Given the description of an element on the screen output the (x, y) to click on. 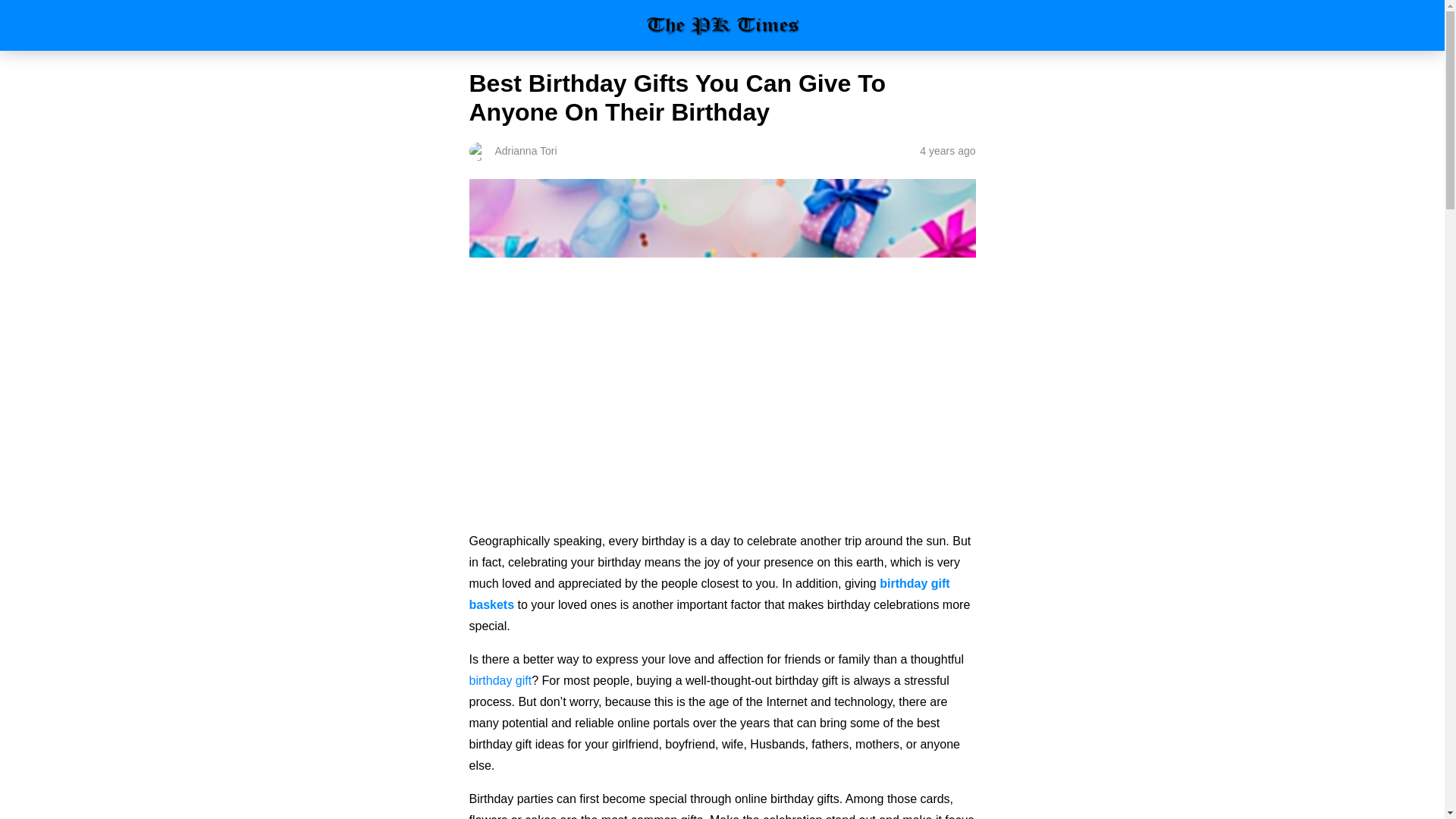
birthday gift baskets (708, 593)
The PK Times (721, 25)
birthday gift (499, 680)
